Given the description of an element on the screen output the (x, y) to click on. 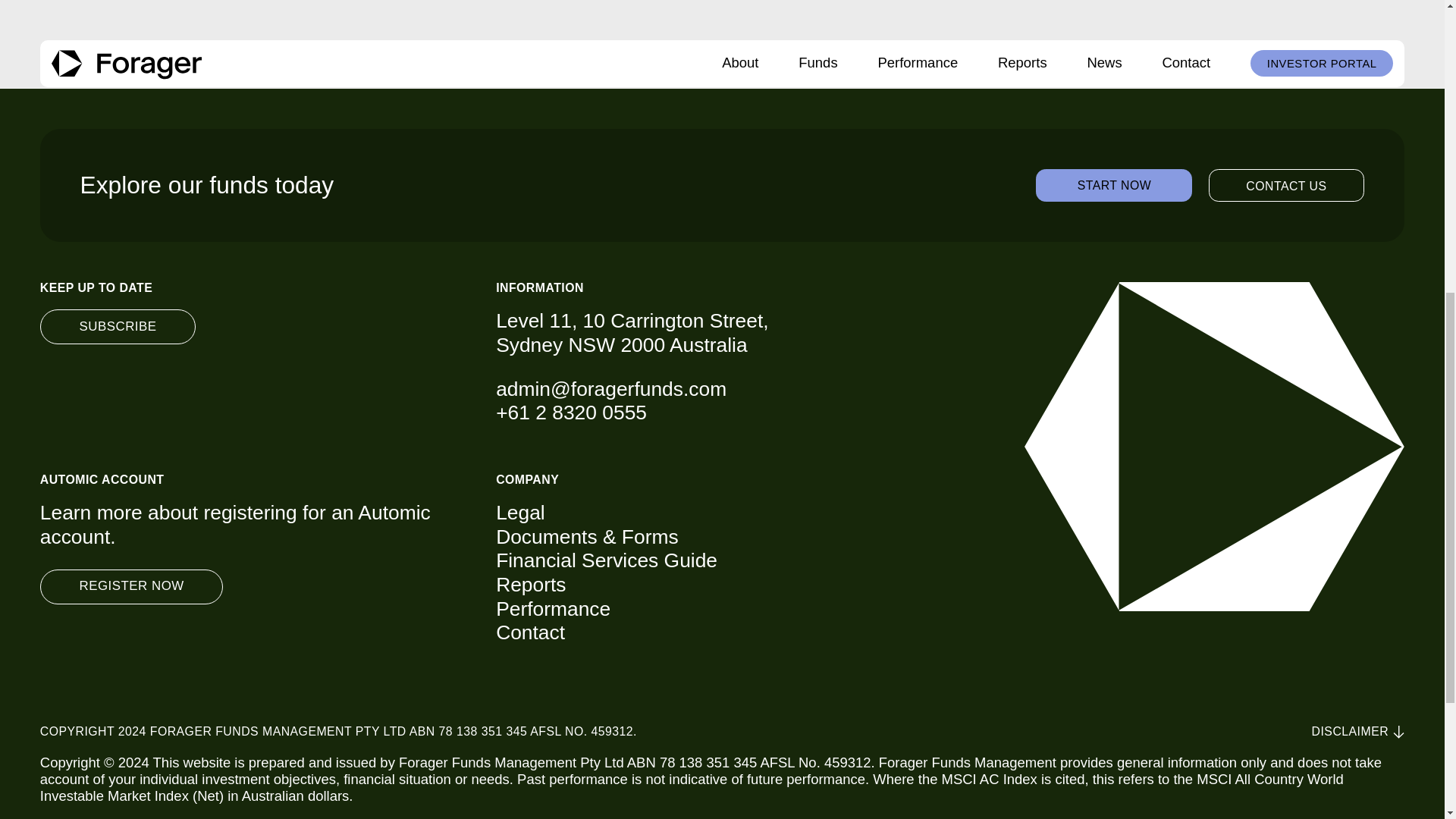
Legal (692, 513)
Financial Services Guide (692, 560)
Performance (692, 609)
CONTACT US (1286, 184)
Reports (692, 585)
DISCLAIMER (1358, 731)
REGISTER NOW (132, 586)
START NOW (1113, 184)
SUBSCRIBE (117, 326)
Contact (692, 632)
